Given the description of an element on the screen output the (x, y) to click on. 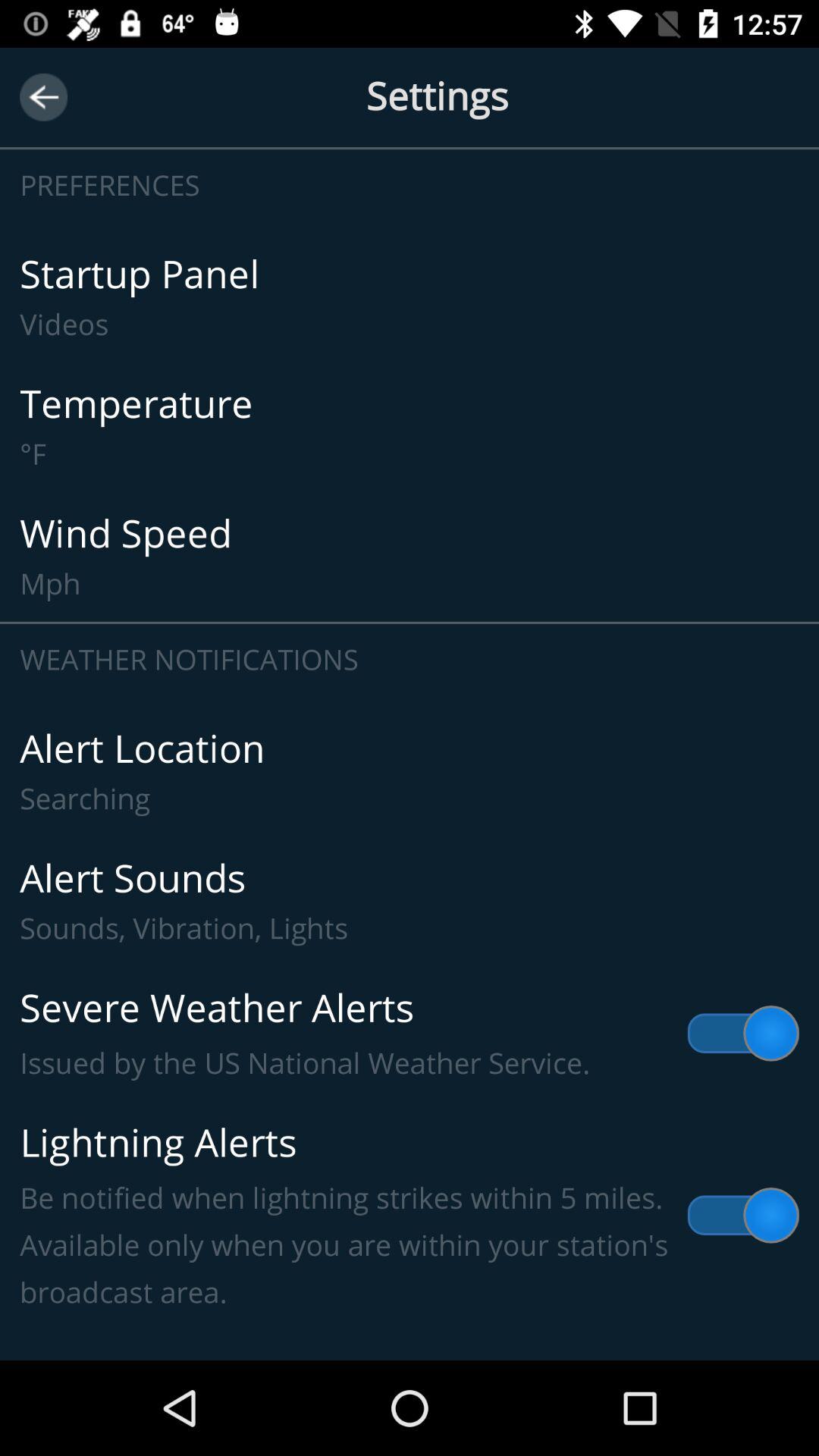
choose the item above the wind speed
mph icon (409, 426)
